Given the description of an element on the screen output the (x, y) to click on. 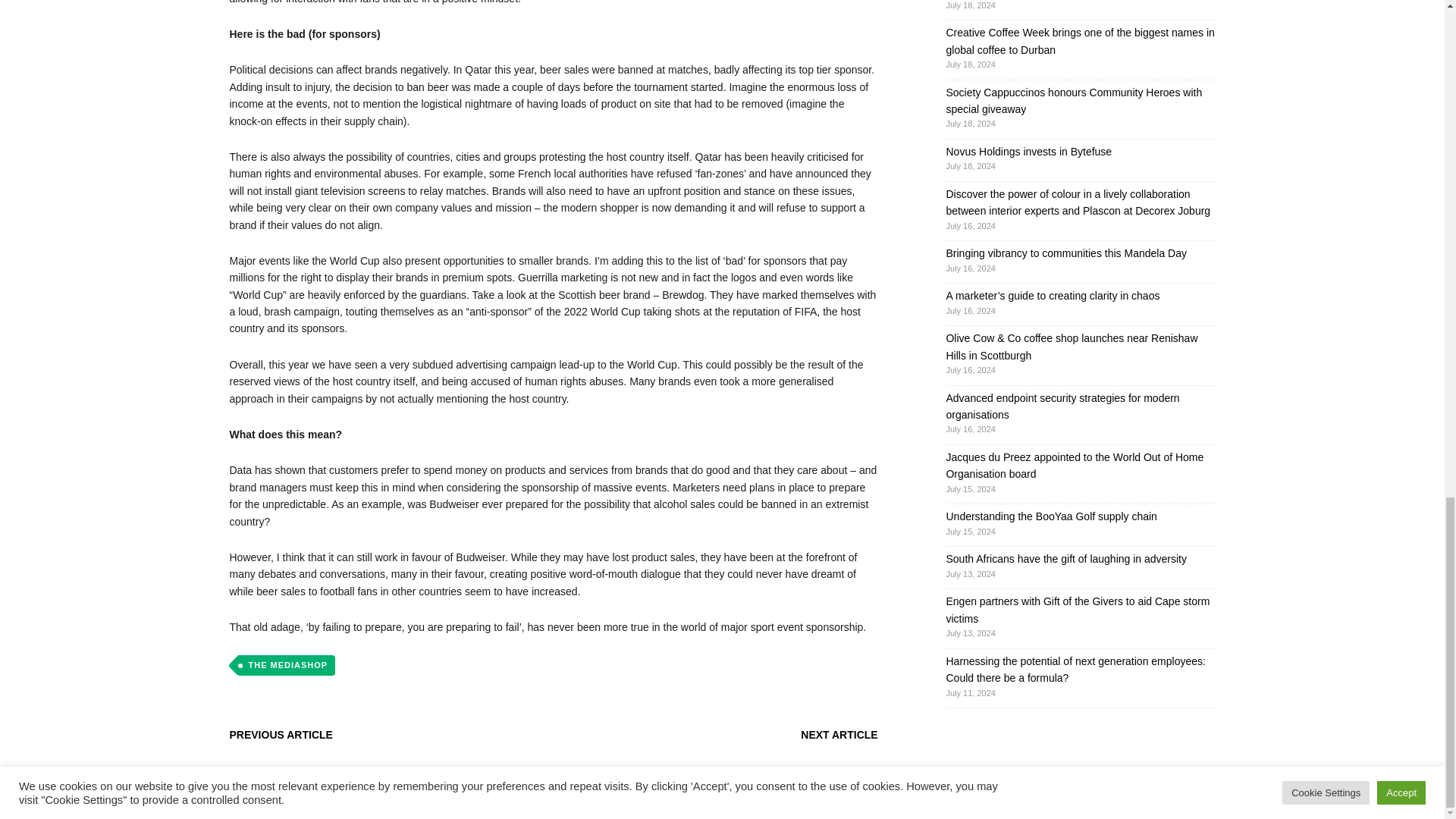
THE MEDIASHOP (284, 665)
PREVIOUS ARTICLE (279, 734)
NEXT ARTICLE (838, 734)
